Given the description of an element on the screen output the (x, y) to click on. 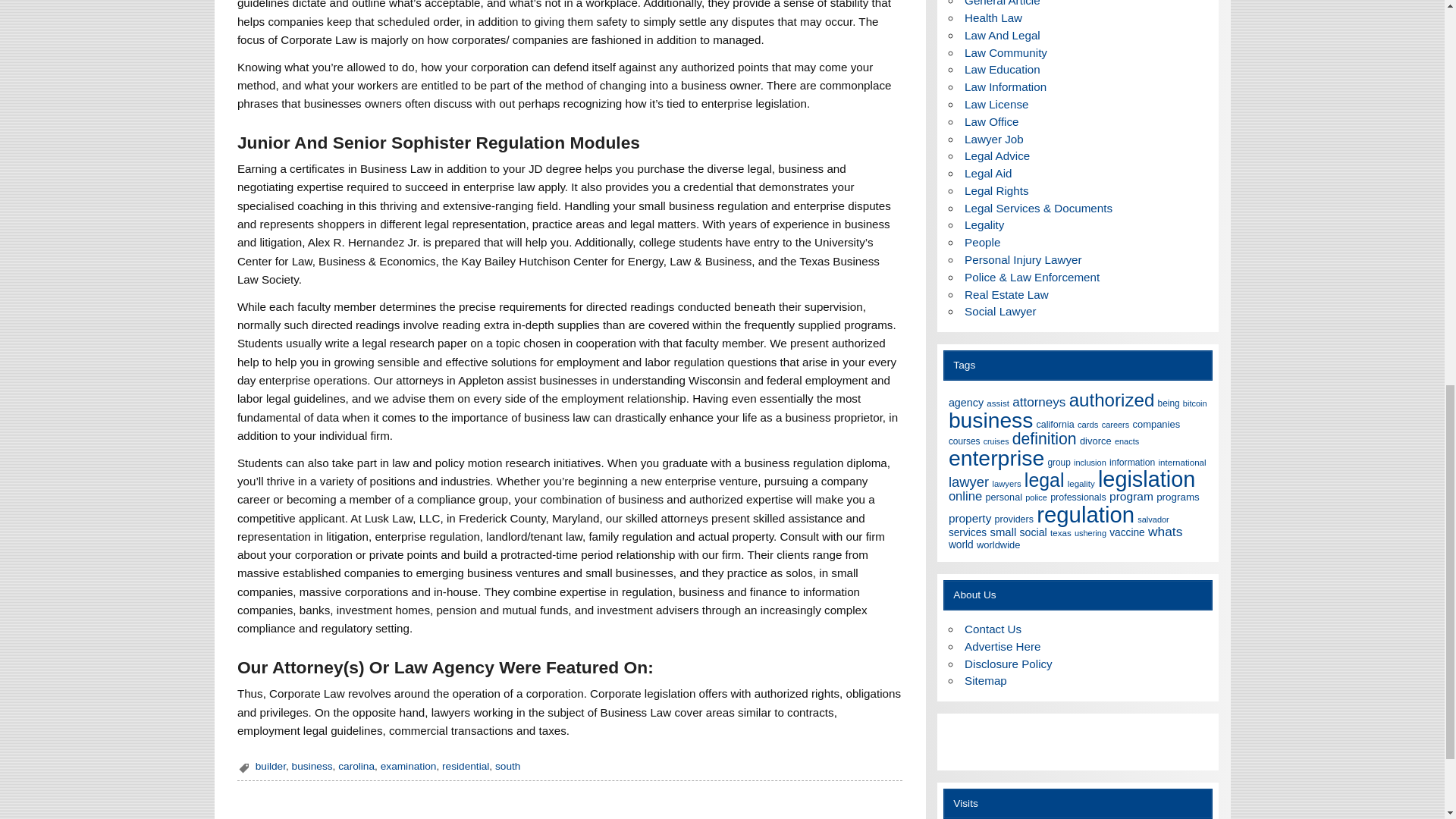
carolina (355, 766)
business (312, 766)
south (507, 766)
examination (408, 766)
residential (465, 766)
builder (270, 766)
